Given the description of an element on the screen output the (x, y) to click on. 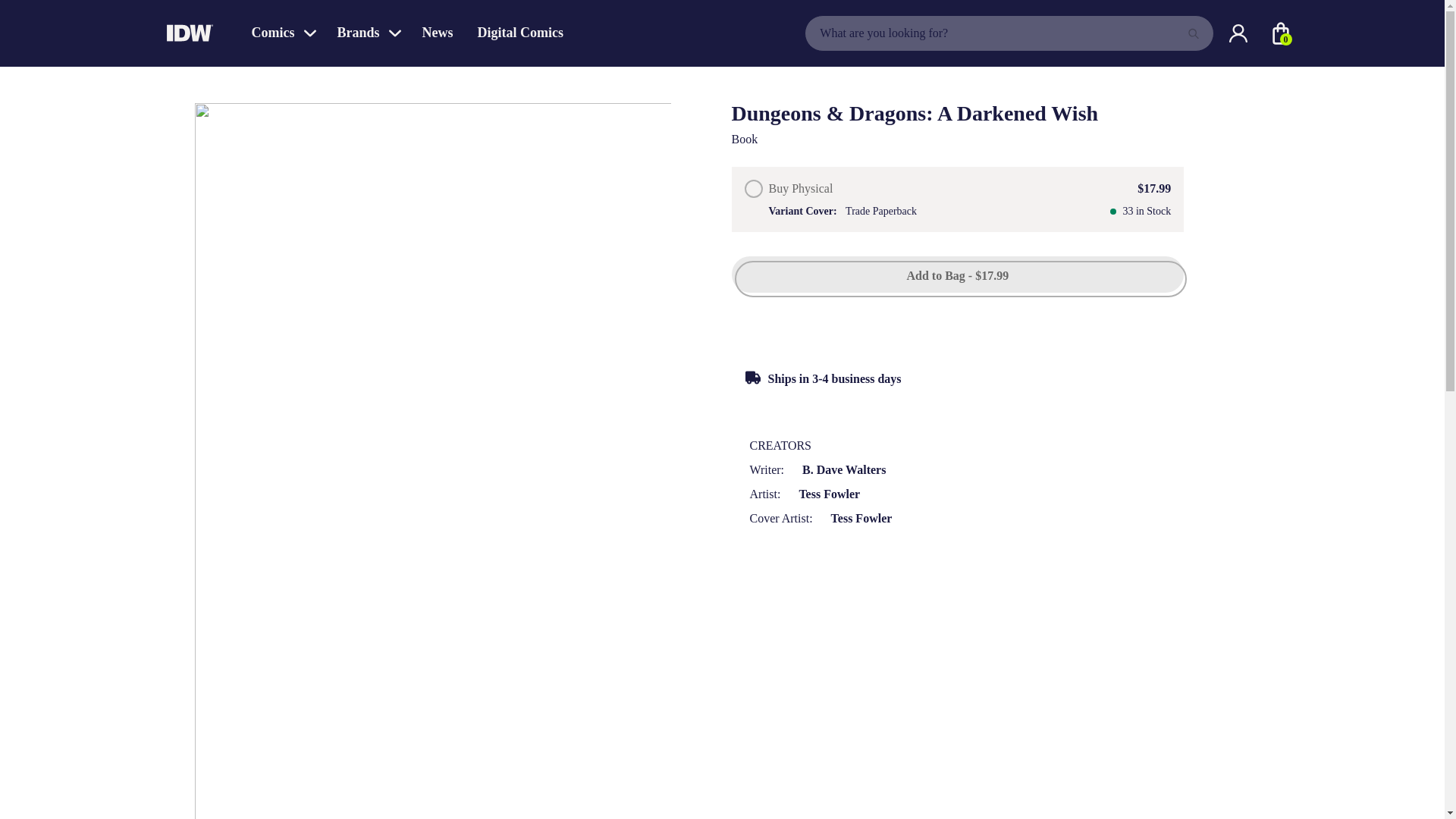
News (437, 33)
Brands (366, 33)
Cart (1280, 33)
Physical (753, 188)
Account (1237, 33)
Comics (282, 33)
Digital Comics (520, 33)
